Given the description of an element on the screen output the (x, y) to click on. 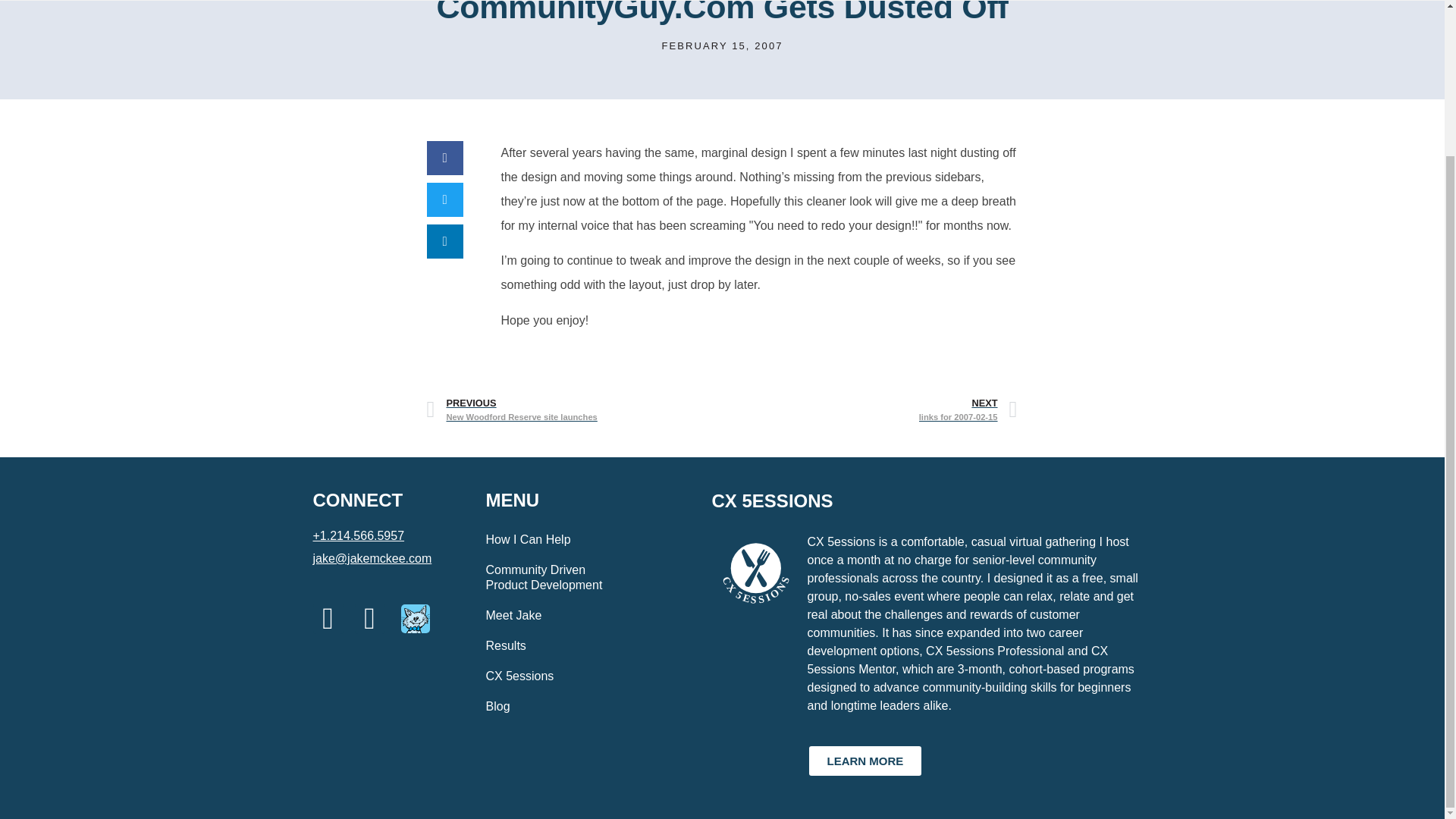
BLOG (574, 409)
